Given the description of an element on the screen output the (x, y) to click on. 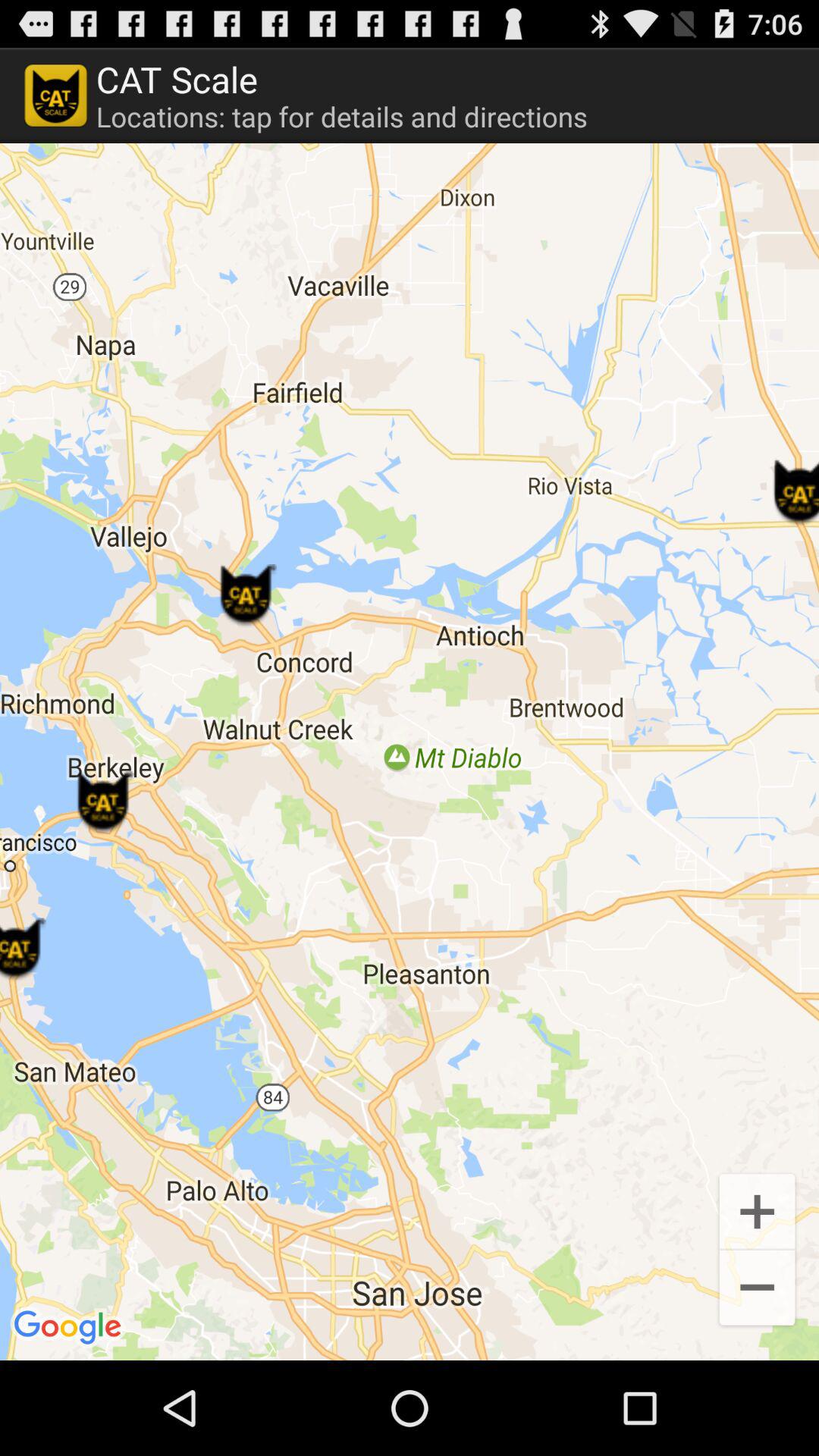
turn on the app below the locations tap for icon (409, 751)
